Given the description of an element on the screen output the (x, y) to click on. 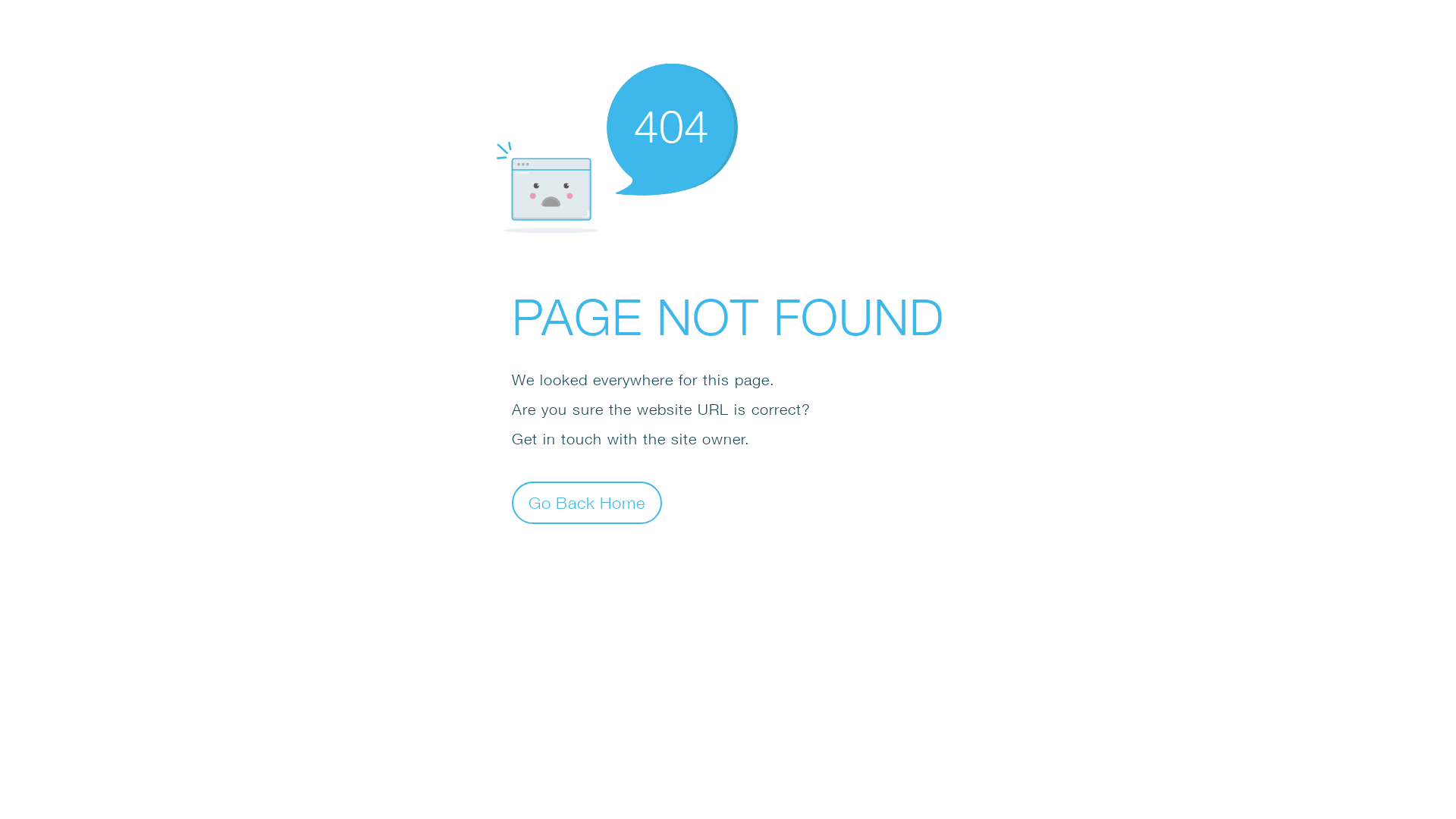
Go Back Home Element type: text (586, 502)
